Given the description of an element on the screen output the (x, y) to click on. 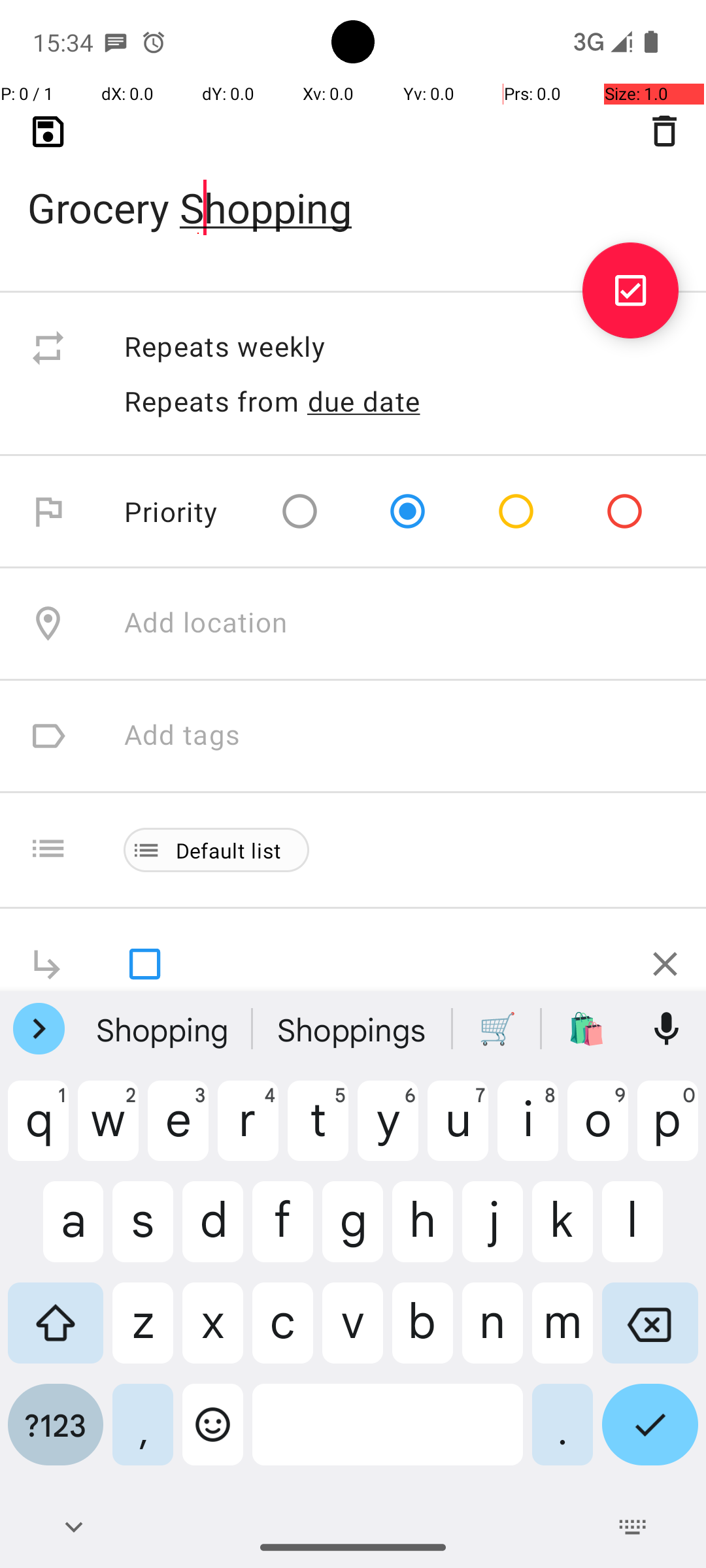
Repeats weekly Element type: android.widget.TextView (400, 347)
Repeats from Element type: android.widget.TextView (211, 400)
due date Element type: android.widget.TextView (363, 400)
Shopping Element type: android.widget.FrameLayout (163, 1028)
Shoppings Element type: android.widget.FrameLayout (352, 1028)
emoji 🛒 Element type: android.widget.FrameLayout (497, 1028)
emoji 🛍️ Element type: android.widget.FrameLayout (585, 1028)
